Given the description of an element on the screen output the (x, y) to click on. 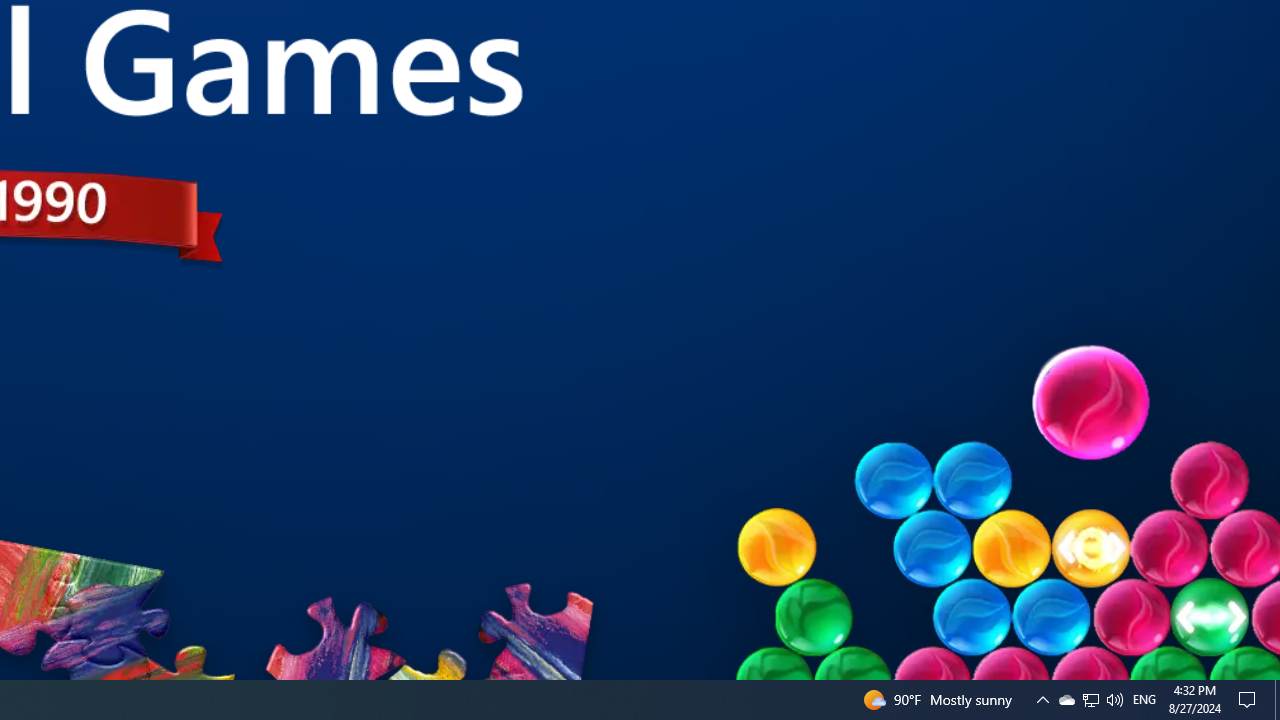
Notification Chevron (1042, 699)
Show desktop (1277, 699)
Q2790: 100% (1114, 699)
Action Center, No new notifications (1250, 699)
Tray Input Indicator - English (United States) (1091, 699)
User Promoted Notification Area (1144, 699)
